Given the description of an element on the screen output the (x, y) to click on. 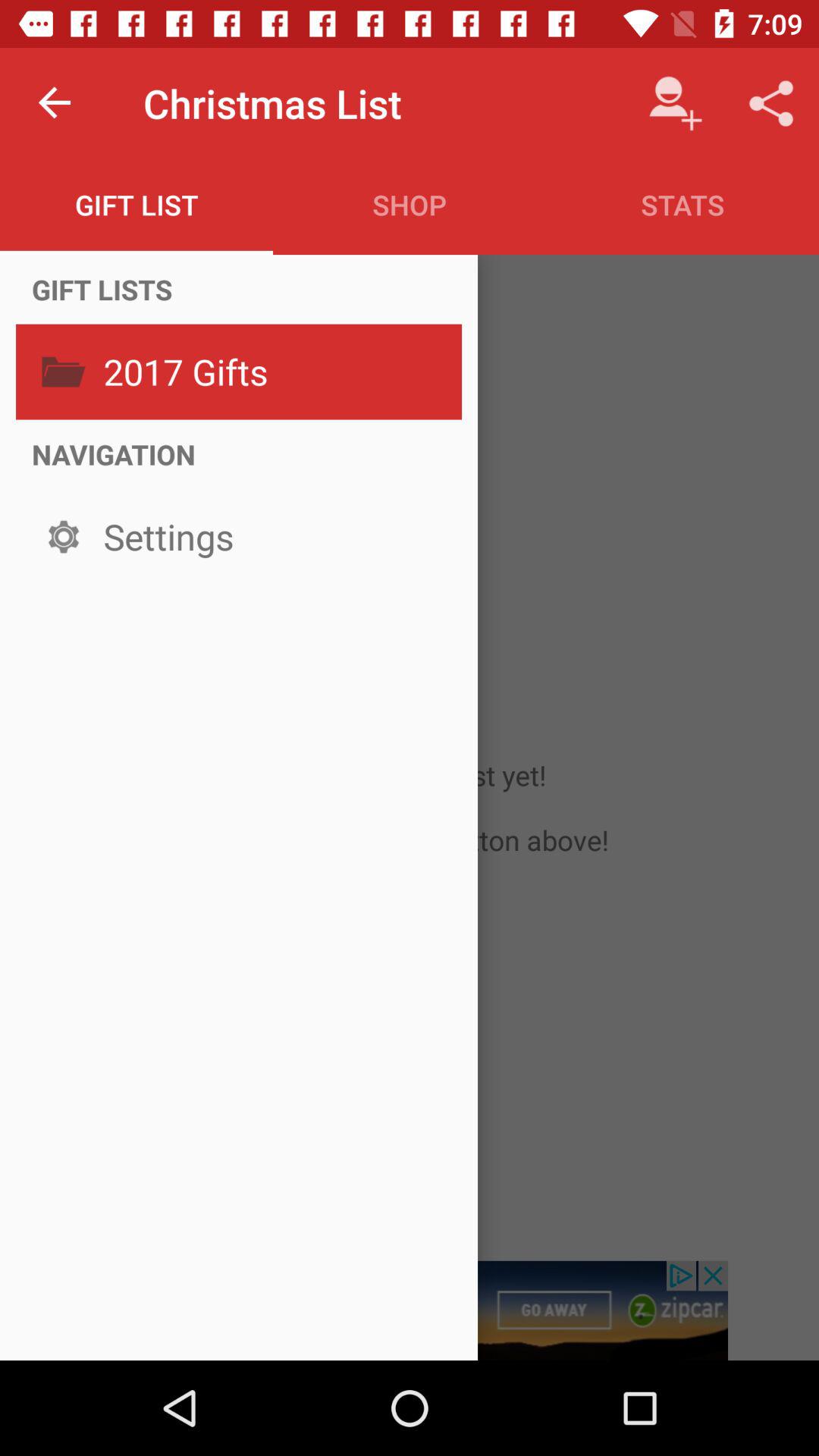
turn on the icon below the navigation (278, 536)
